Given the description of an element on the screen output the (x, y) to click on. 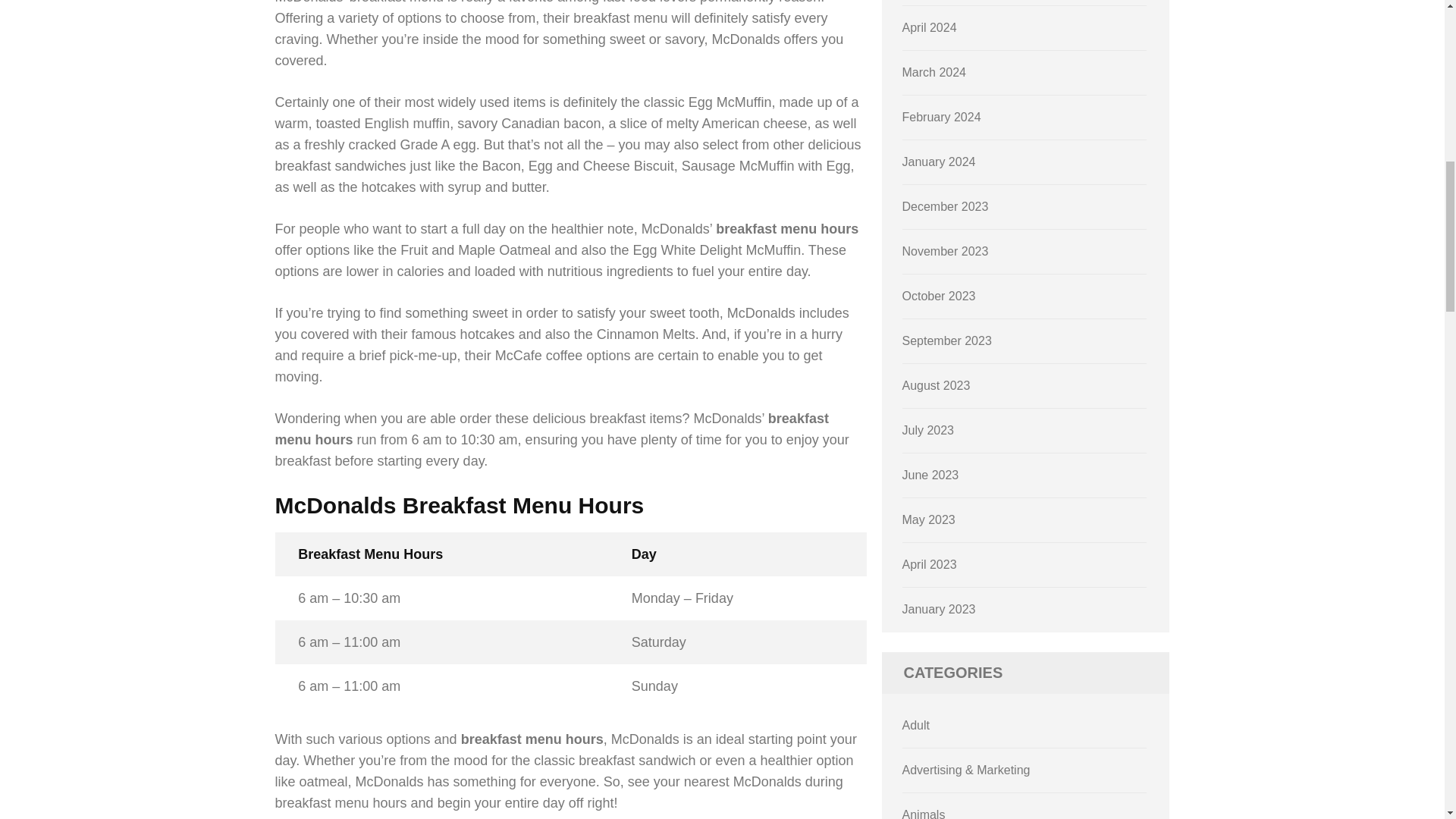
April 2024 (929, 27)
April 2023 (929, 563)
July 2023 (928, 430)
November 2023 (945, 250)
February 2024 (941, 116)
December 2023 (945, 205)
March 2024 (934, 72)
August 2023 (936, 385)
September 2023 (946, 340)
June 2023 (930, 474)
October 2023 (938, 295)
January 2023 (938, 608)
January 2024 (938, 161)
May 2023 (928, 519)
